Given the description of an element on the screen output the (x, y) to click on. 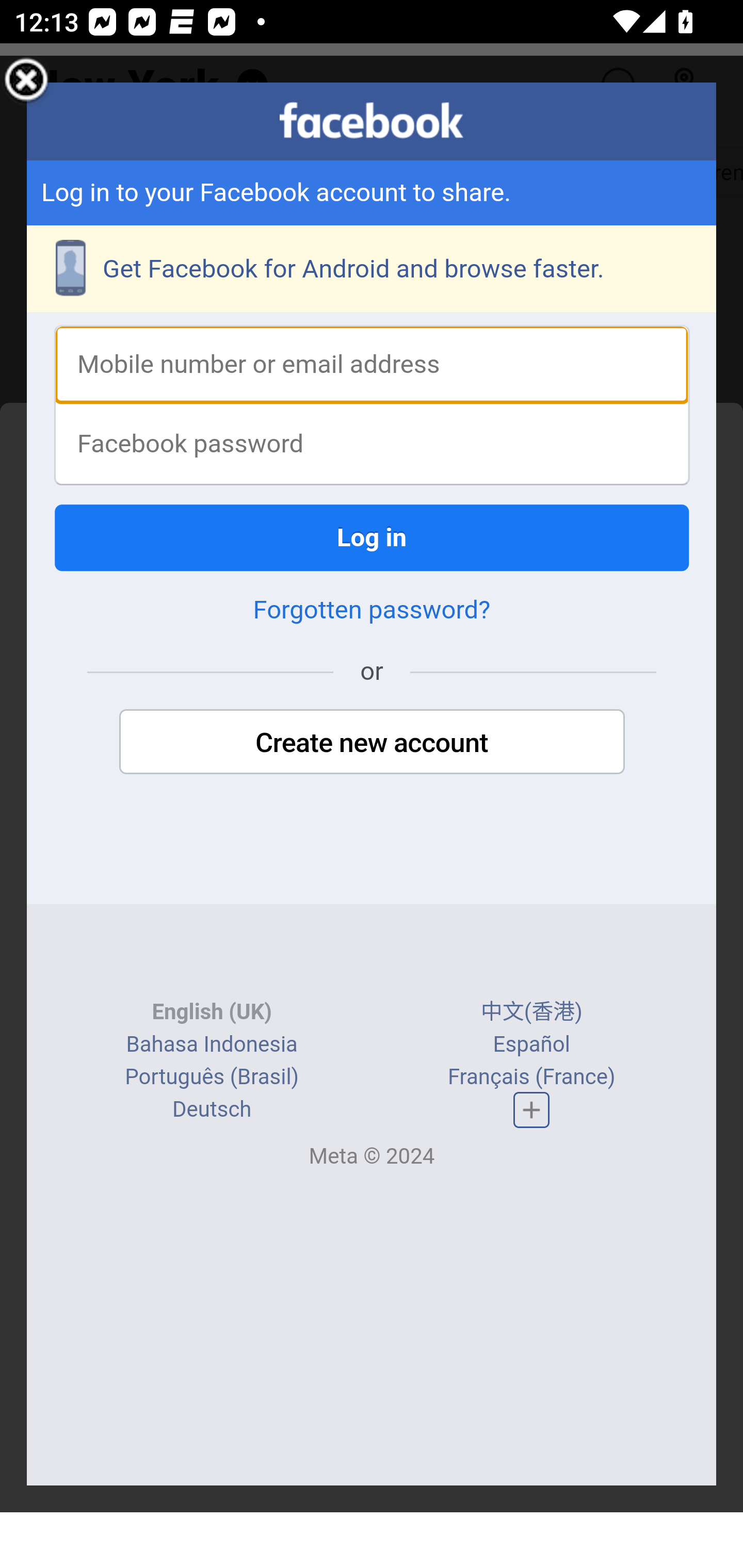
facebook (372, 121)
Get Facebook for Android and browse faster. (372, 270)
Log in (372, 538)
Forgotten password? (371, 611)
Create new account (371, 743)
中文(香港) (531, 1013)
Bahasa Indonesia (210, 1044)
Español (530, 1044)
Português (Brasil) (211, 1077)
Français (France) (530, 1077)
Complete list of languages (531, 1110)
Deutsch (211, 1110)
